Given the description of an element on the screen output the (x, y) to click on. 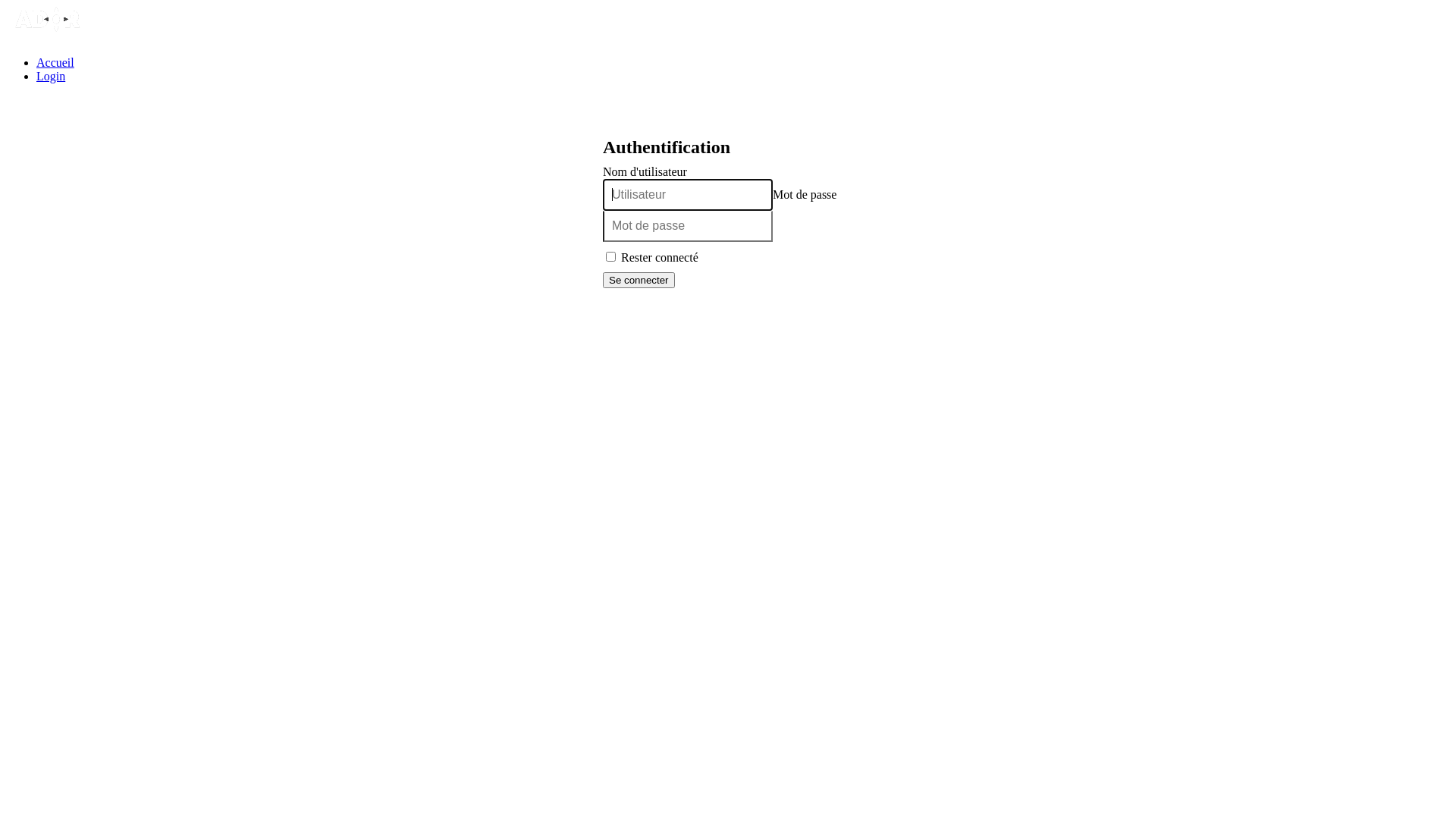
Se connecter Element type: text (638, 280)
Login Element type: text (50, 75)
Accueil Element type: text (55, 62)
